Given the description of an element on the screen output the (x, y) to click on. 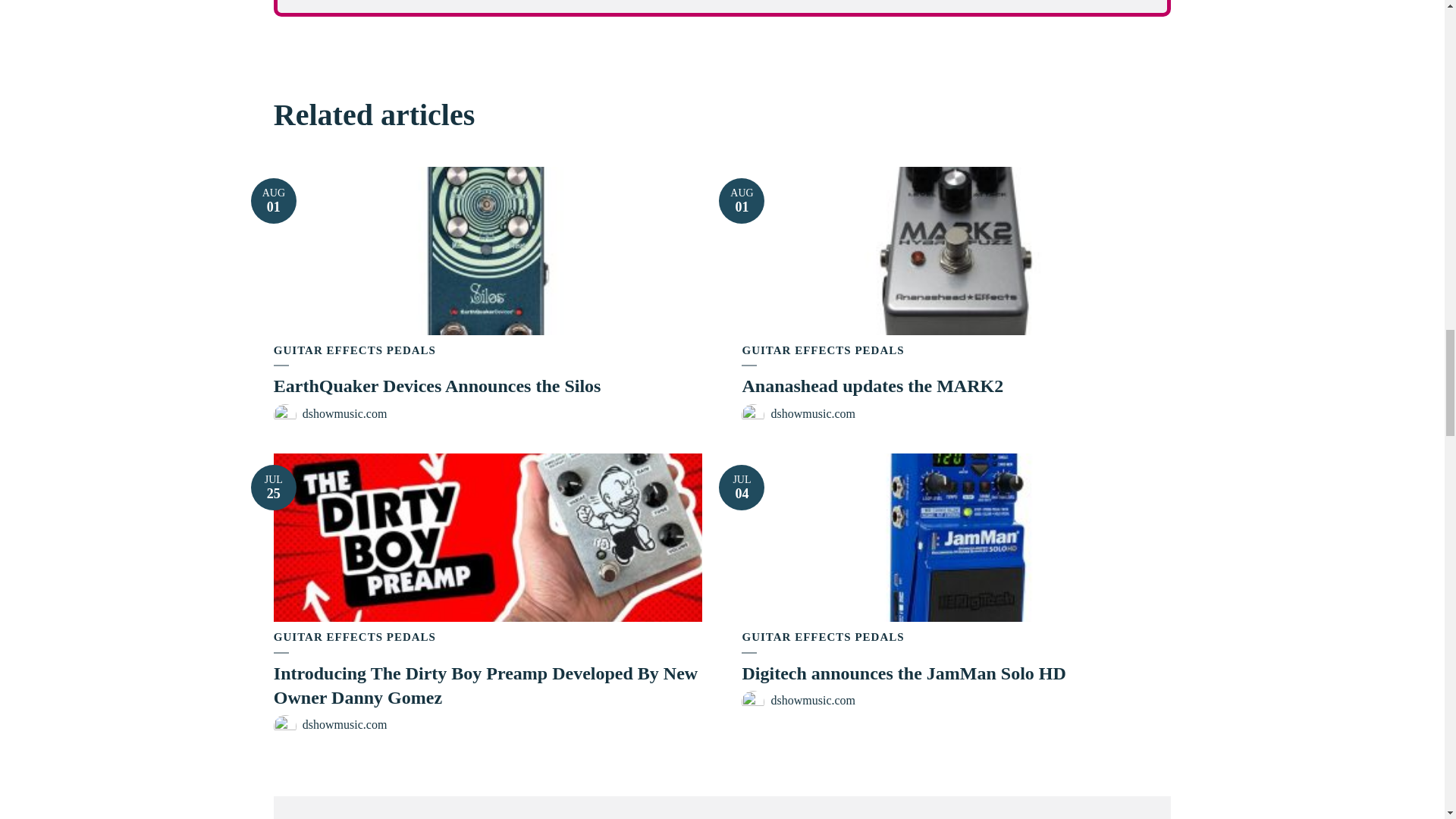
GUITAR EFFECTS PEDALS (354, 350)
EarthQuaker Devices Announces the Silos (437, 385)
Ananashead updates the MARK2 (741, 200)
GUITAR EFFECTS PEDALS (872, 385)
dshowmusic.com (822, 350)
dshowmusic.com (813, 413)
